Given the description of an element on the screen output the (x, y) to click on. 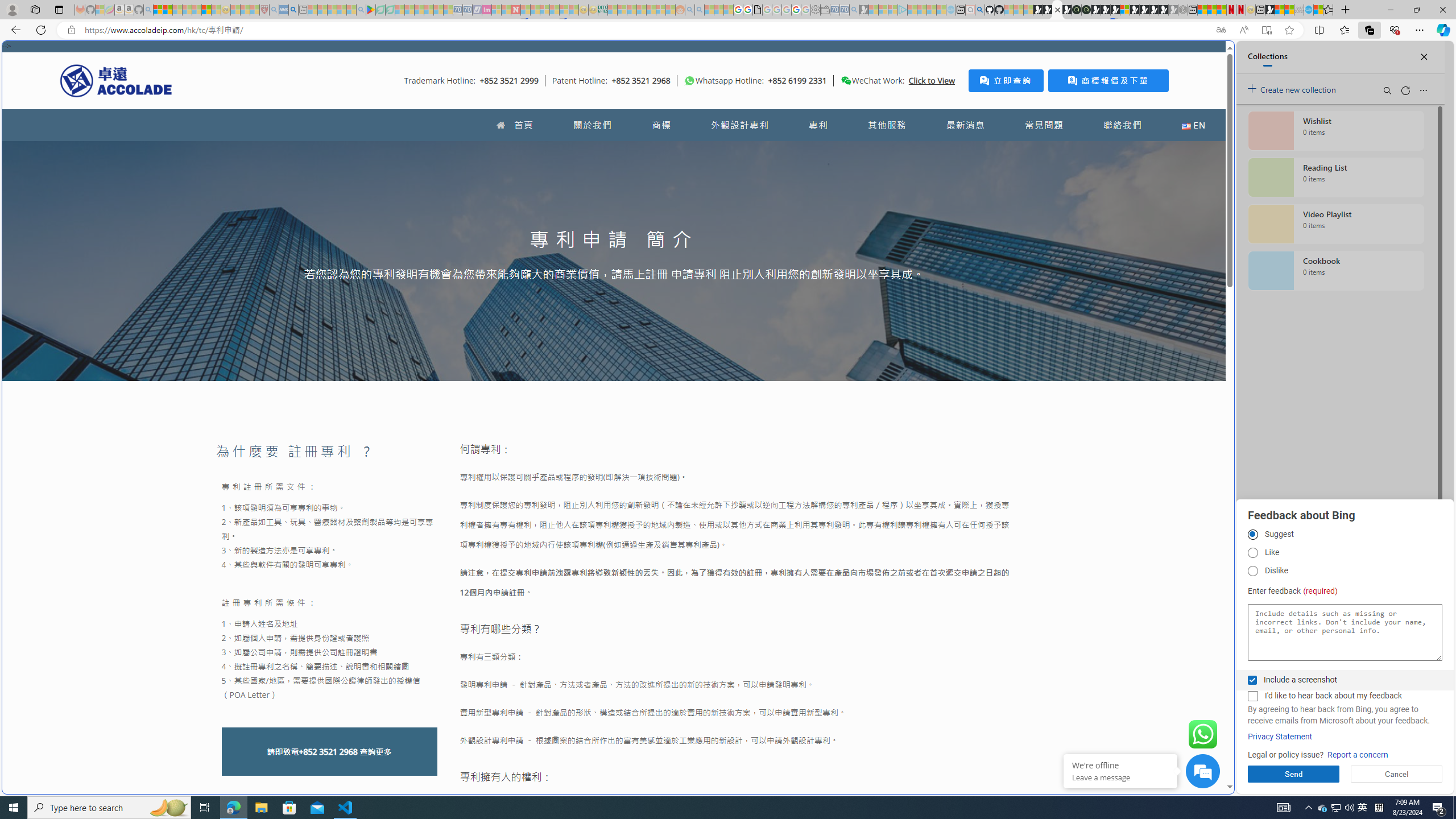
Kinda Frugal - MSN - Sleeping (651, 9)
Settings - Sleeping (815, 9)
Latest Politics News & Archive | Newsweek.com - Sleeping (515, 9)
Suggest (1252, 534)
